Given the description of an element on the screen output the (x, y) to click on. 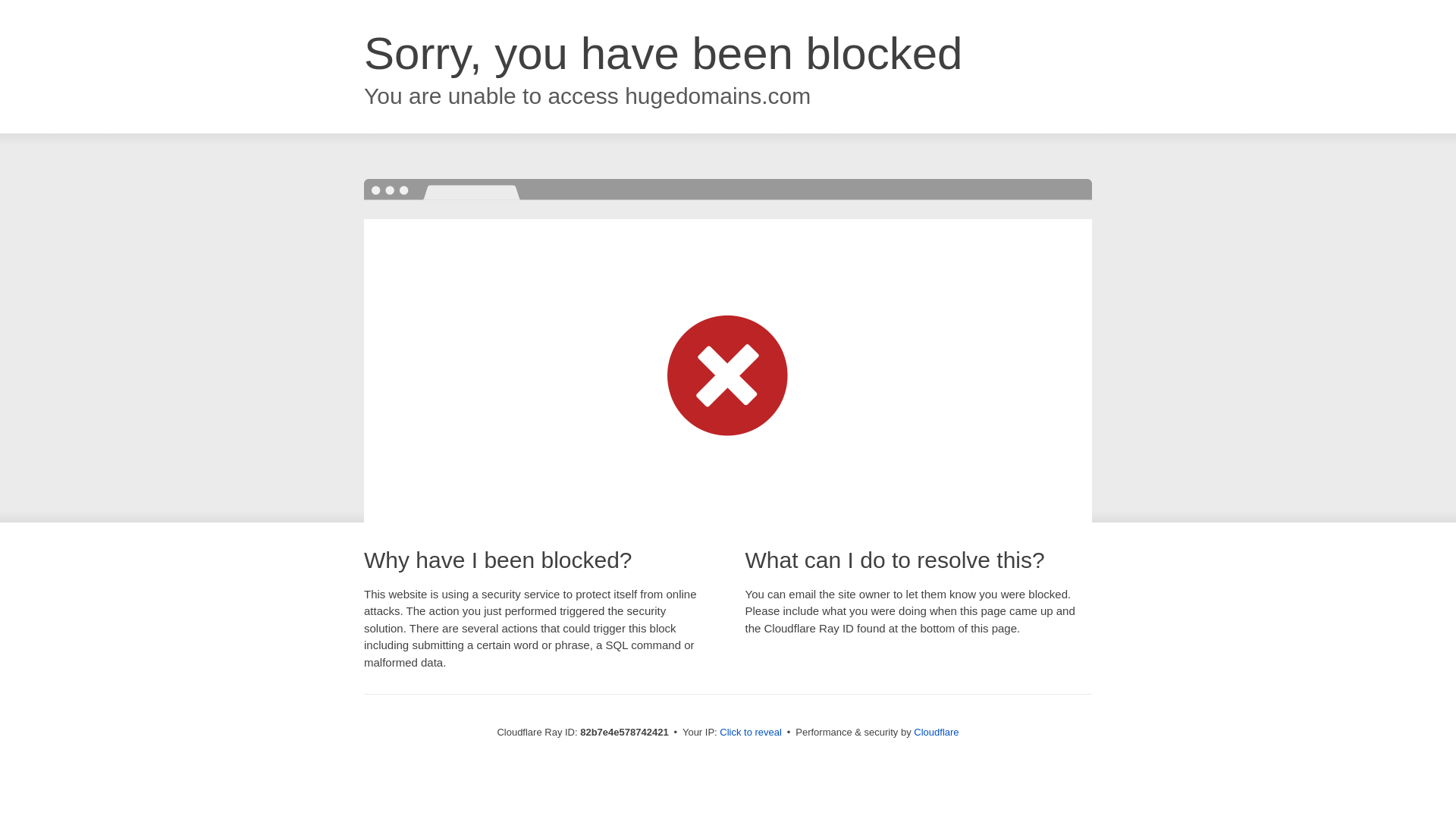
Cloudflare Element type: text (935, 731)
Click to reveal Element type: text (750, 732)
